Given the description of an element on the screen output the (x, y) to click on. 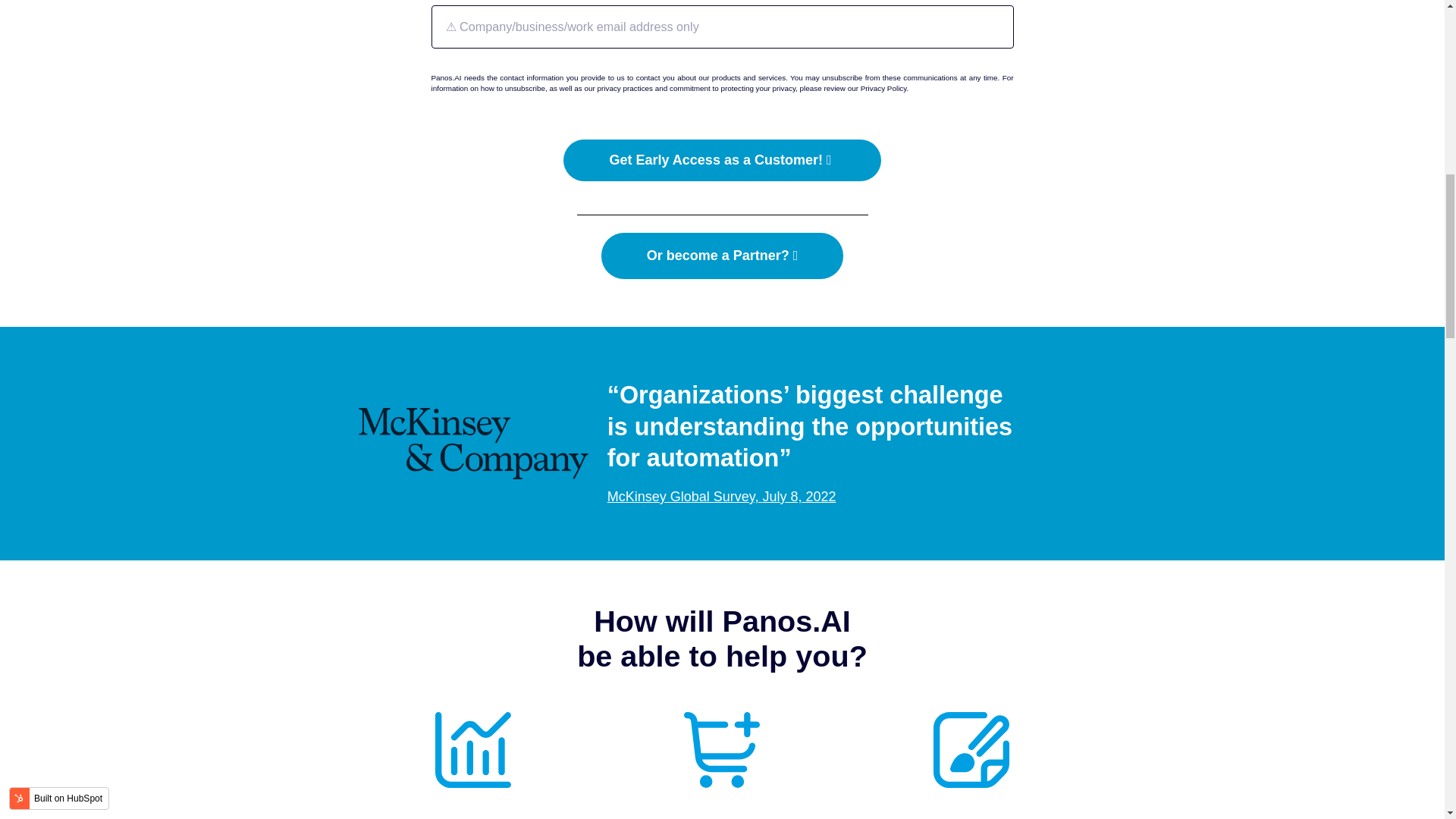
chart-histogram (473, 749)
McKinsey Global Survey, July 8, 2022 (721, 496)
edit-alt (971, 749)
shopping-cart-add (722, 749)
